Given the description of an element on the screen output the (x, y) to click on. 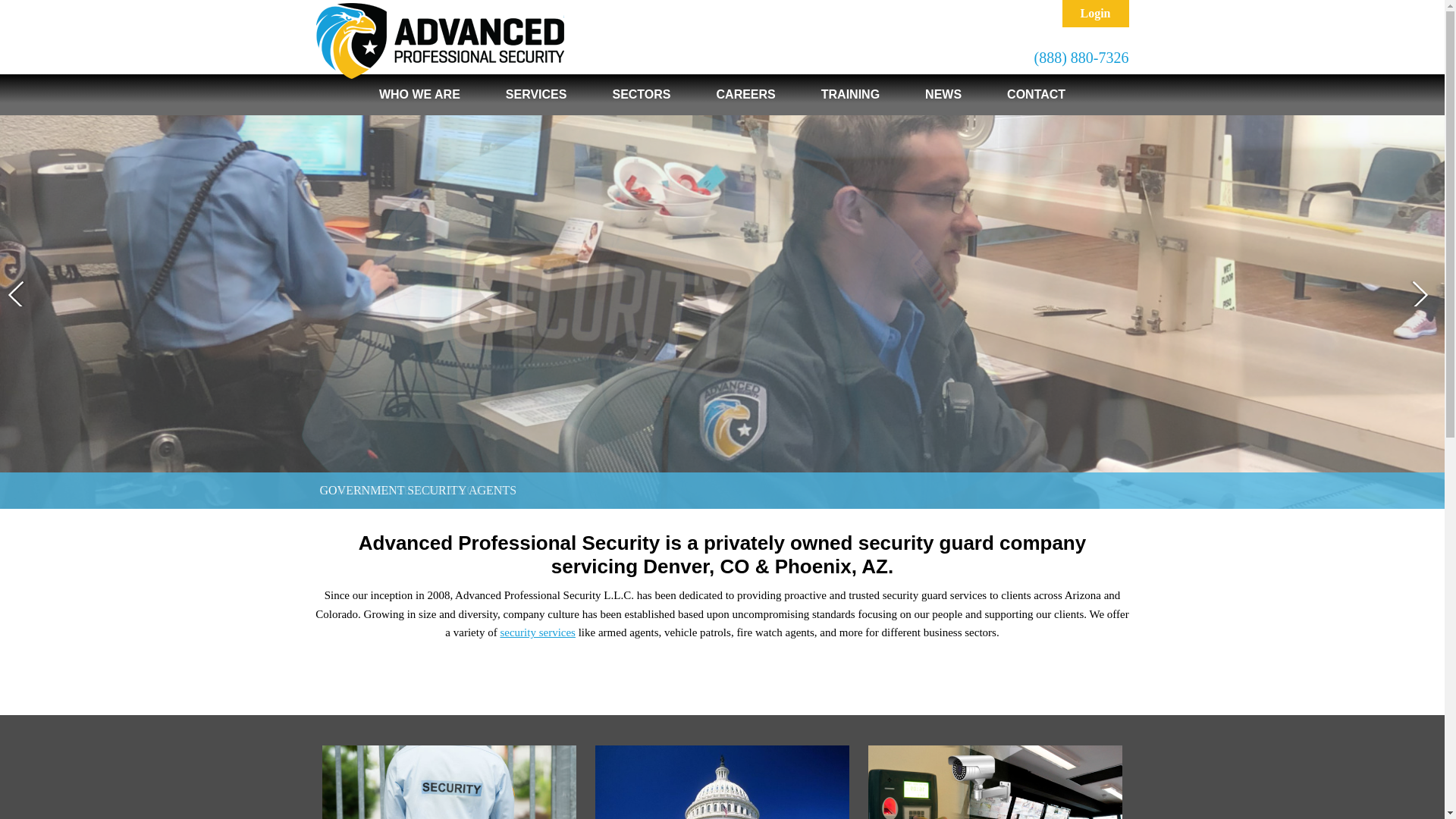
CAREERS (745, 94)
SERVICES (536, 94)
Advanced Professional Security (439, 40)
WHO WE ARE (419, 94)
SECTORS (641, 94)
Login (1094, 13)
TRAINING (849, 94)
